Given the description of an element on the screen output the (x, y) to click on. 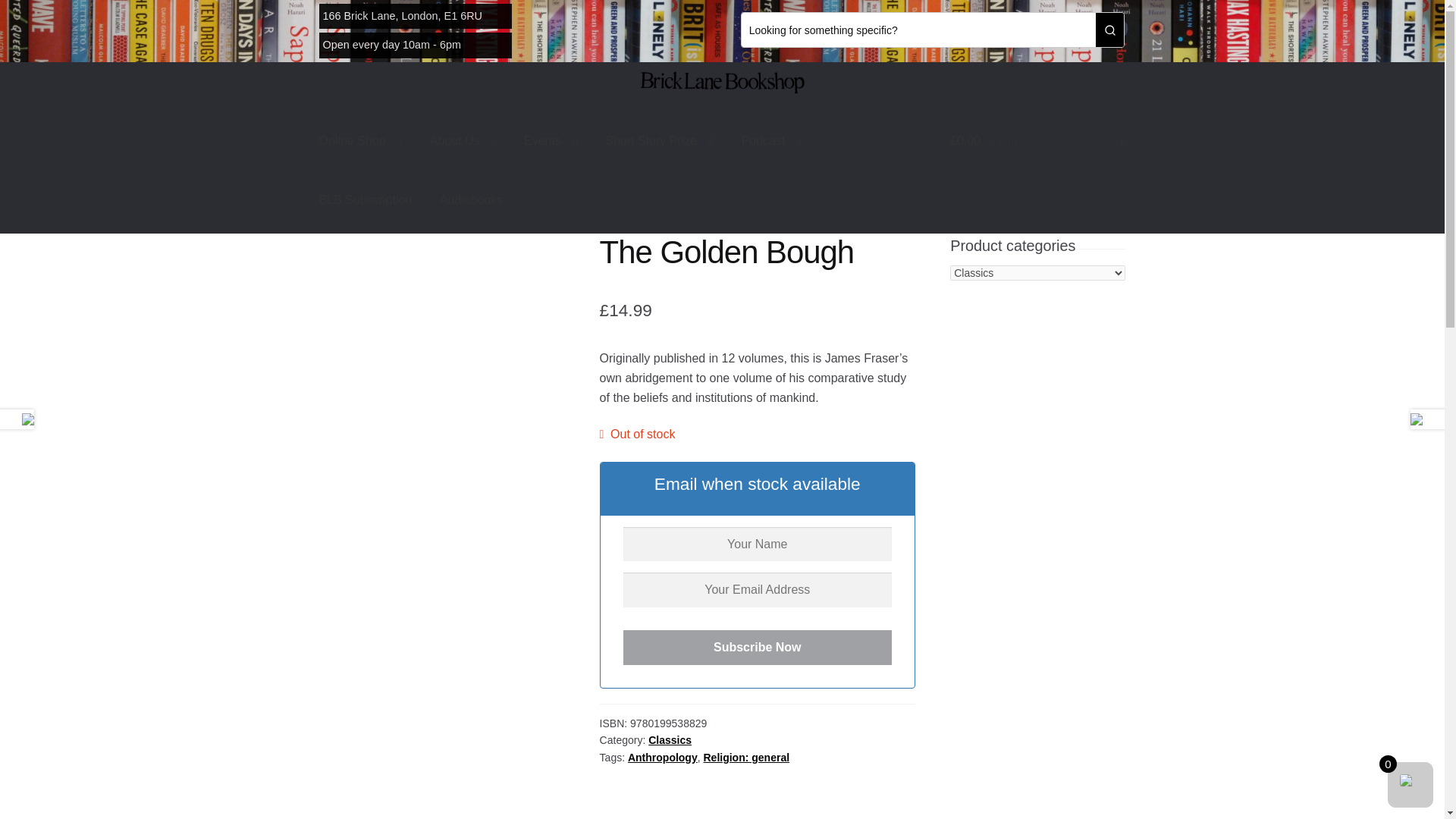
Online Shop (360, 140)
Events (550, 140)
View your shopping basket (1037, 140)
Looking for something specific? (918, 29)
Short Story Prize (658, 140)
Looking for something specific? (918, 29)
Podcast (771, 140)
About Us (462, 140)
Subscribe Now (757, 647)
